Given the description of an element on the screen output the (x, y) to click on. 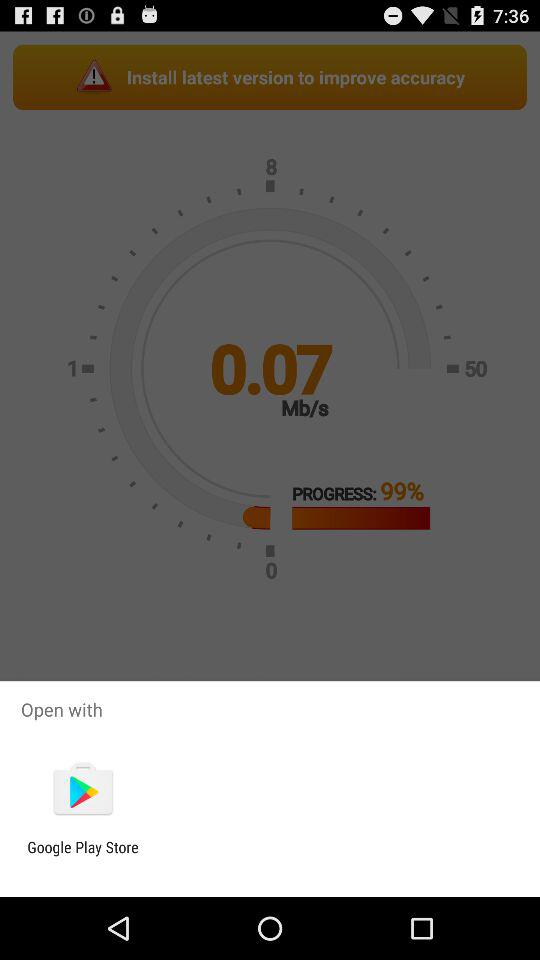
tap google play store item (82, 856)
